Given the description of an element on the screen output the (x, y) to click on. 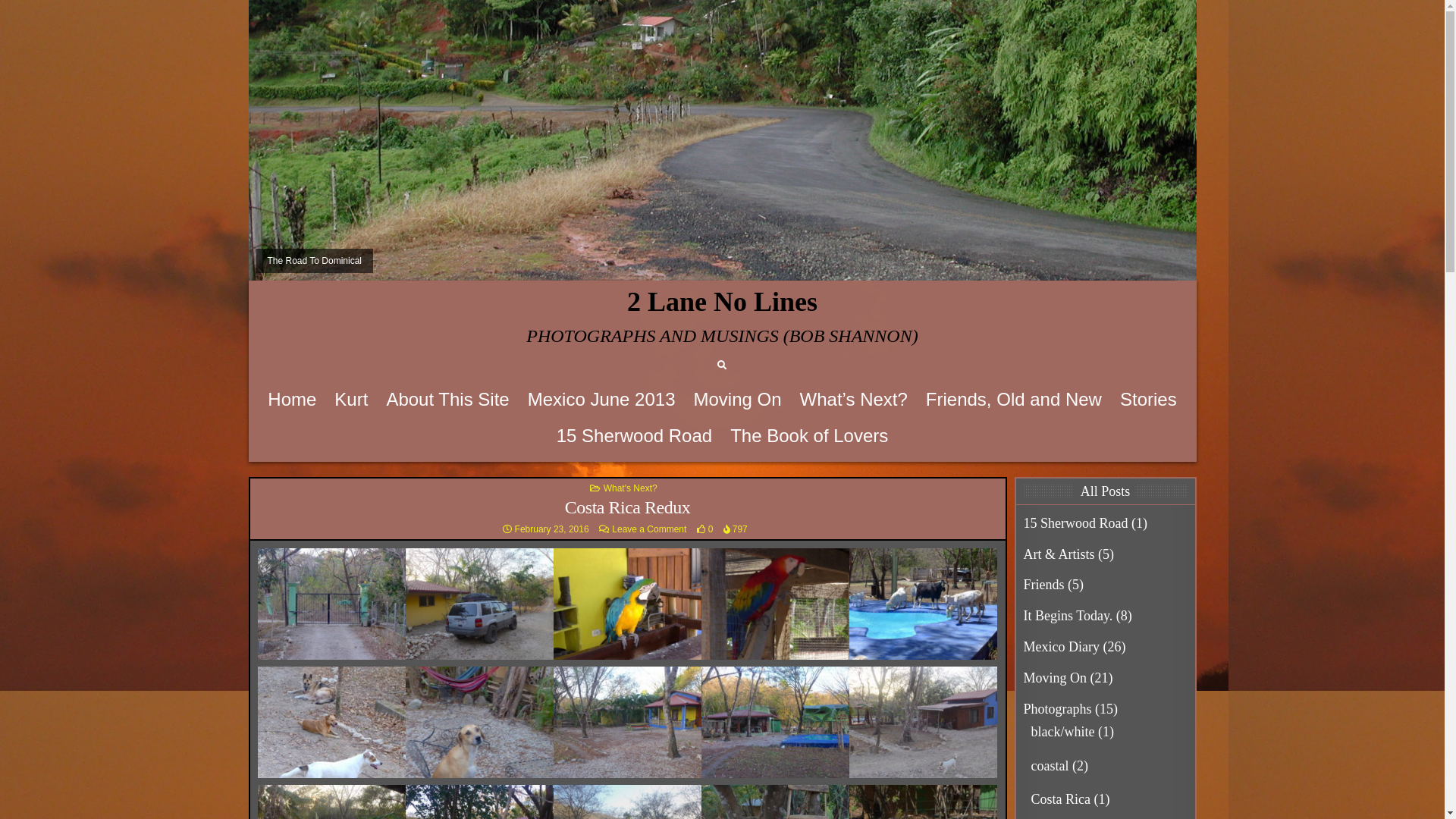
Costa Rica Redux Element type: text (627, 507)
15 Sherwood Road Element type: text (634, 435)
Mexico June 2013 Element type: text (601, 399)
Moving On Element type: text (1055, 677)
Friends Element type: text (1043, 584)
Mexico Diary Element type: text (1061, 646)
Kurt Element type: text (350, 399)
The Book of Lovers Element type: text (809, 435)
0 Element type: text (704, 528)
Leave a Comment
on Costa Rica Redux Element type: text (648, 528)
Art & Artists Element type: text (1059, 553)
2 Lane No Lines Element type: text (722, 301)
black/white Element type: text (1063, 731)
What's Next? Element type: text (630, 488)
About This Site Element type: text (446, 399)
Moving On Element type: text (737, 399)
Friends, Old and New Element type: text (1013, 399)
Costa Rica Element type: text (1061, 798)
15 Sherwood Road Element type: text (1075, 522)
Home Element type: text (291, 399)
Stories Element type: text (1148, 399)
coastal Element type: text (1050, 765)
It Begins Today. Element type: text (1068, 615)
Search Element type: hover (721, 365)
Photographs Element type: text (1057, 708)
